Given the description of an element on the screen output the (x, y) to click on. 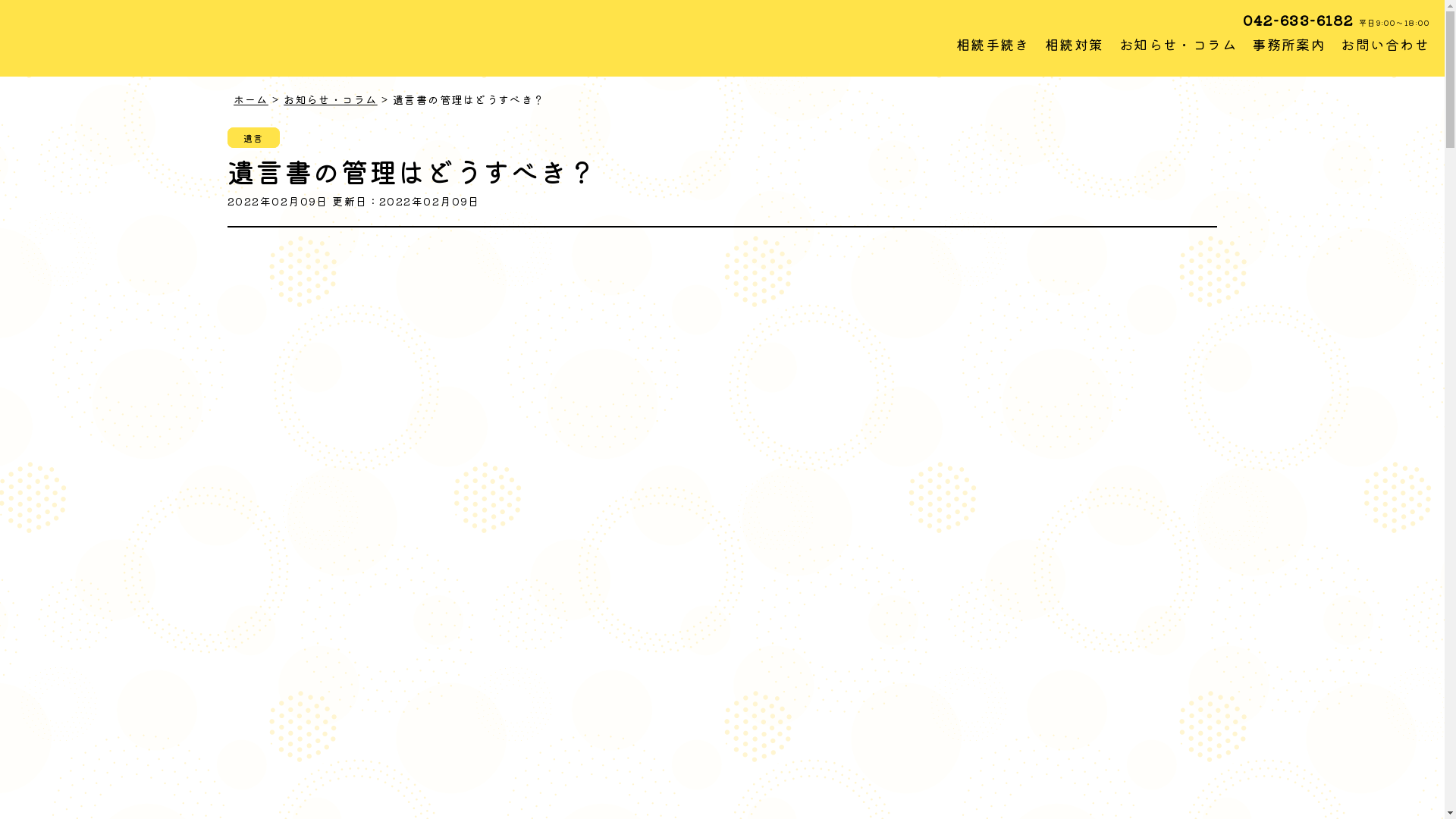
042-633-6182 Element type: text (1297, 19)
